Given the description of an element on the screen output the (x, y) to click on. 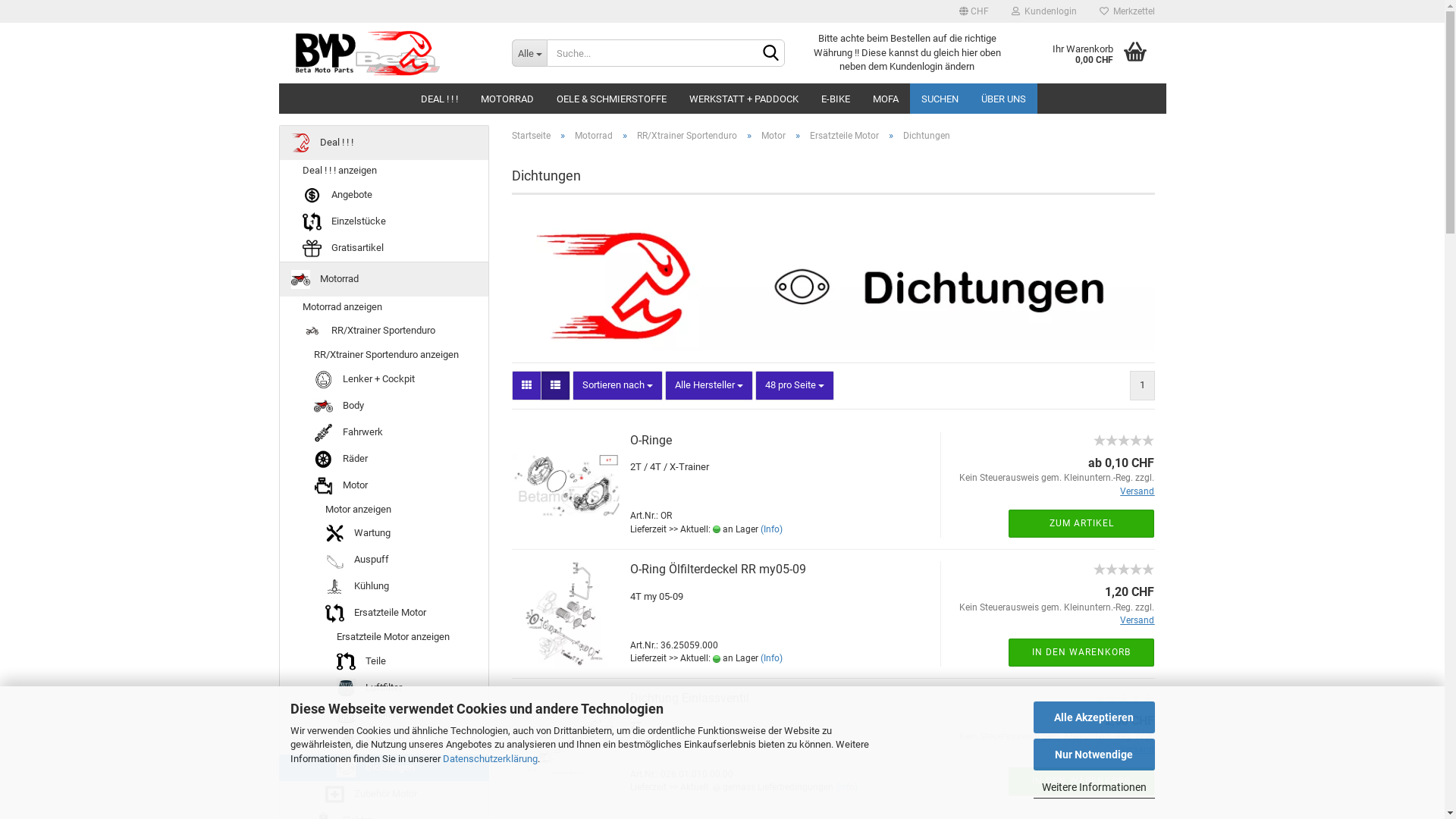
SUCHEN Element type: text (939, 98)
an Lager Element type: hover (716, 529)
CHF Element type: text (973, 11)
Motor Element type: text (383, 485)
Oelfilter Element type: text (383, 714)
Bisher wurden keine Rezensionen zu diesem Produkt abgegeben Element type: hover (1123, 438)
Dichtungen Element type: hover (832, 284)
E-BIKE Element type: text (835, 98)
Motor anzeigen Element type: text (383, 509)
Fahrwerk Element type: text (383, 432)
Angebote Element type: text (383, 195)
Ersatzteile Motor Element type: text (843, 135)
Motorrad Element type: text (383, 279)
IN DEN WARENKORB Element type: text (1081, 781)
Dichtung Einlassventil Element type: text (689, 697)
(Info) Element type: text (771, 657)
Nur Notwendige Element type: text (1093, 754)
OELE & SCHMIERSTOFFE Element type: text (610, 98)
Bisher wurden keine Rezensionen zu diesem Produkt abgegeben Element type: hover (1123, 696)
Ersatzteile Motor Element type: text (383, 612)
Deal ! ! ! Element type: text (383, 142)
Gratisartikel Element type: text (383, 248)
Anmelden Element type: text (960, 185)
Ihr Warenkorb
0,00 CHF Element type: text (1091, 52)
 Merkzettel Element type: text (1126, 11)
Startseite Element type: text (530, 135)
BMP BetaMotoParts Element type: hover (389, 52)
RR/Xtrainer Sportenduro anzeigen Element type: text (383, 355)
Dichtung Einlassventil Element type: hover (1123, 706)
Deal ! ! ! anzeigen Element type: text (383, 171)
Kolben Element type: text (383, 741)
Wartung Element type: text (383, 533)
O-Ringe Element type: hover (1123, 448)
Alle Element type: text (528, 52)
Ersatzteile Motor anzeigen Element type: text (383, 637)
Versand Element type: text (1137, 748)
Alle Akzeptieren Element type: text (1093, 716)
Sortieren nach Element type: text (617, 385)
Teile Element type: text (383, 661)
Luftfilter Element type: text (383, 687)
Auspuff Element type: text (383, 559)
IN DEN WARENKORB Element type: text (1081, 652)
RR/Xtrainer Sportenduro Element type: text (687, 135)
DEAL ! ! ! Element type: text (439, 98)
ZUM ARTIKEL Element type: text (1081, 523)
Speichern Element type: text (890, 180)
Bisher wurden keine Rezensionen zu diesem Produkt abgegeben Element type: hover (1123, 567)
MOFA Element type: text (885, 98)
RR/Xtrainer Sportenduro Element type: text (383, 330)
48 pro Seite Element type: text (794, 385)
MOTORRAD Element type: text (506, 98)
Versand Element type: text (1137, 620)
Versand Element type: text (1137, 491)
Motorrad Element type: text (593, 135)
Body Element type: text (383, 405)
O-Ringe Element type: text (650, 440)
Dichtungen Element type: text (384, 767)
Motor Element type: text (773, 135)
Alle Hersteller Element type: text (709, 385)
Weitere Informationen Element type: text (1093, 787)
(Info) Element type: text (846, 786)
Motorrad anzeigen Element type: text (383, 307)
(Info) Element type: text (771, 529)
 Kundenlogin Element type: text (1043, 11)
WERKSTATT + PADDOCK Element type: text (743, 98)
Lenker + Cockpit Element type: text (383, 379)
an Lager Element type: hover (716, 658)
